Given the description of an element on the screen output the (x, y) to click on. 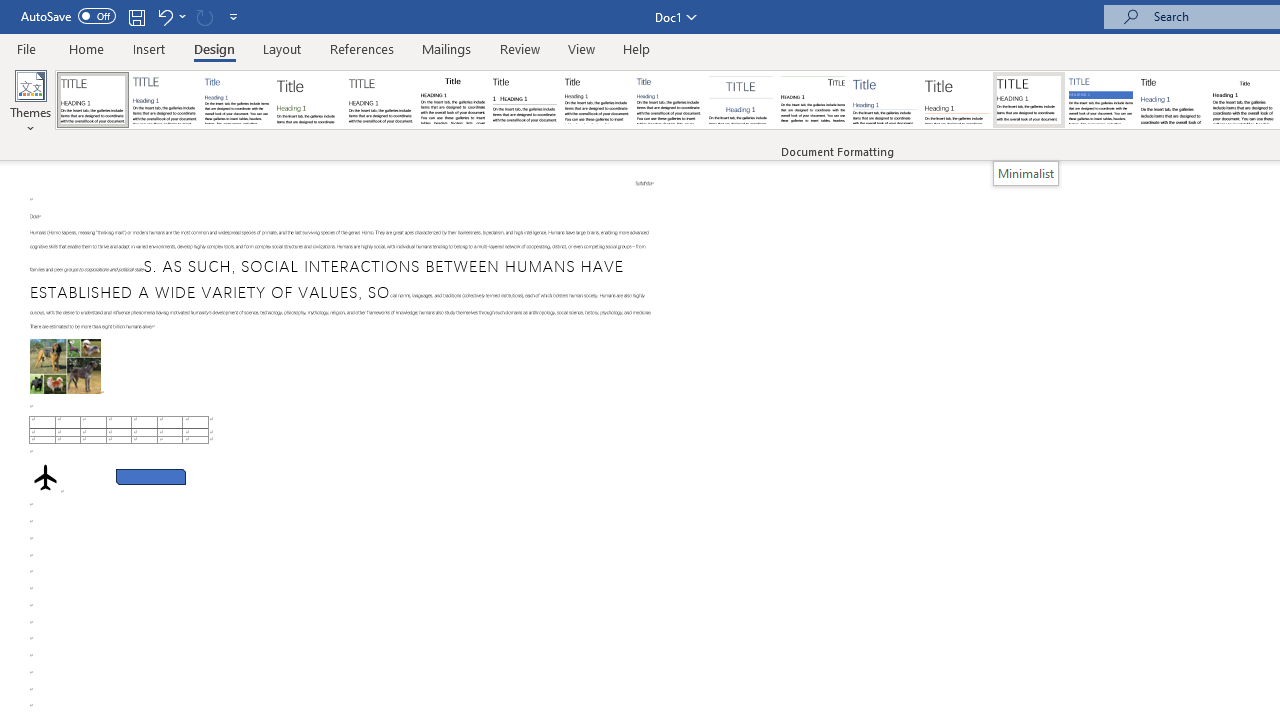
Themes (30, 102)
Basic (Simple) (236, 100)
Lines (Stylish) (957, 100)
Black & White (Word 2013) (596, 100)
Shaded (1100, 100)
Black & White (Numbered) (524, 100)
